Given the description of an element on the screen output the (x, y) to click on. 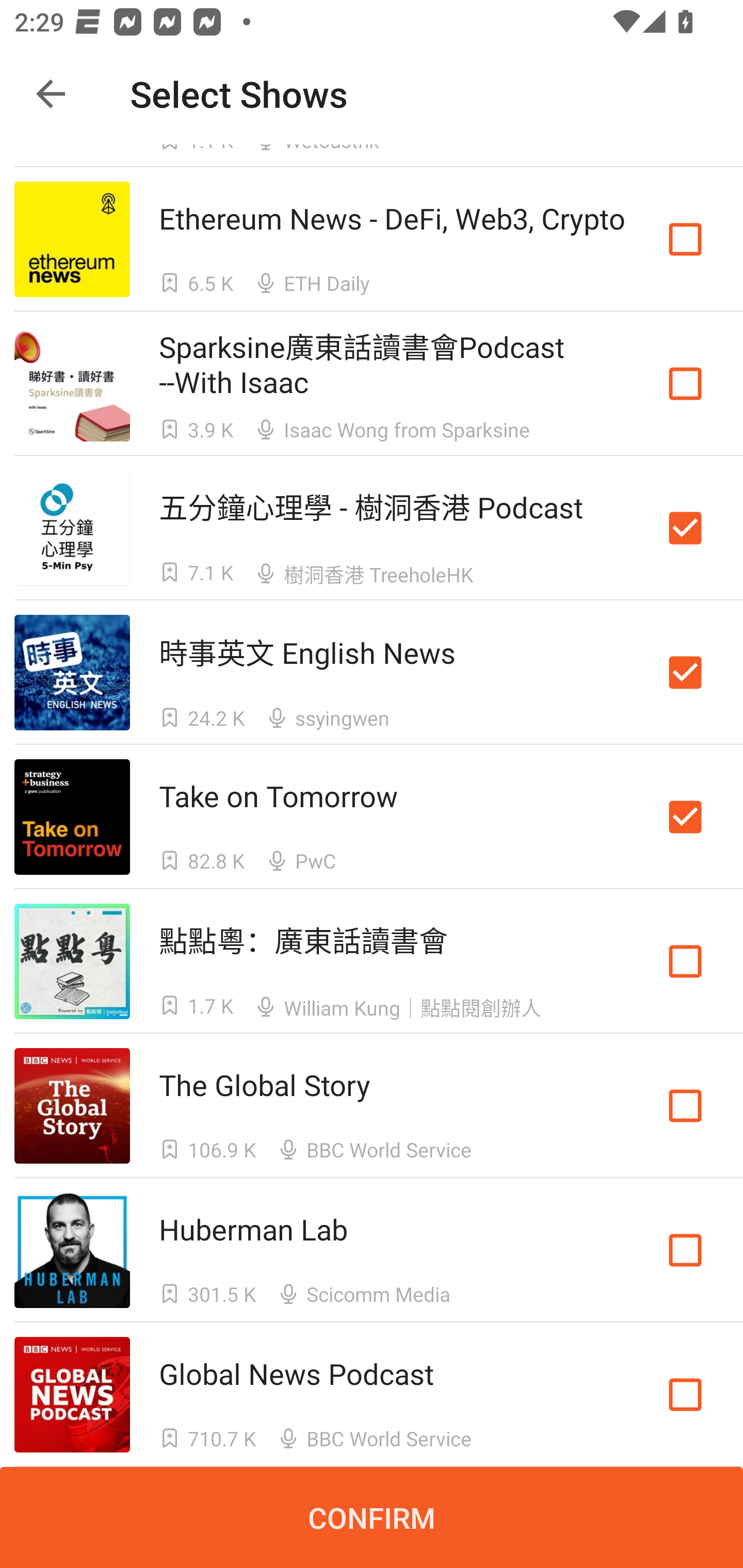
Navigate up (50, 93)
Take on Tomorrow Take on Tomorrow  82.8 K  PwC (371, 816)
CONFIRM (371, 1517)
